Given the description of an element on the screen output the (x, y) to click on. 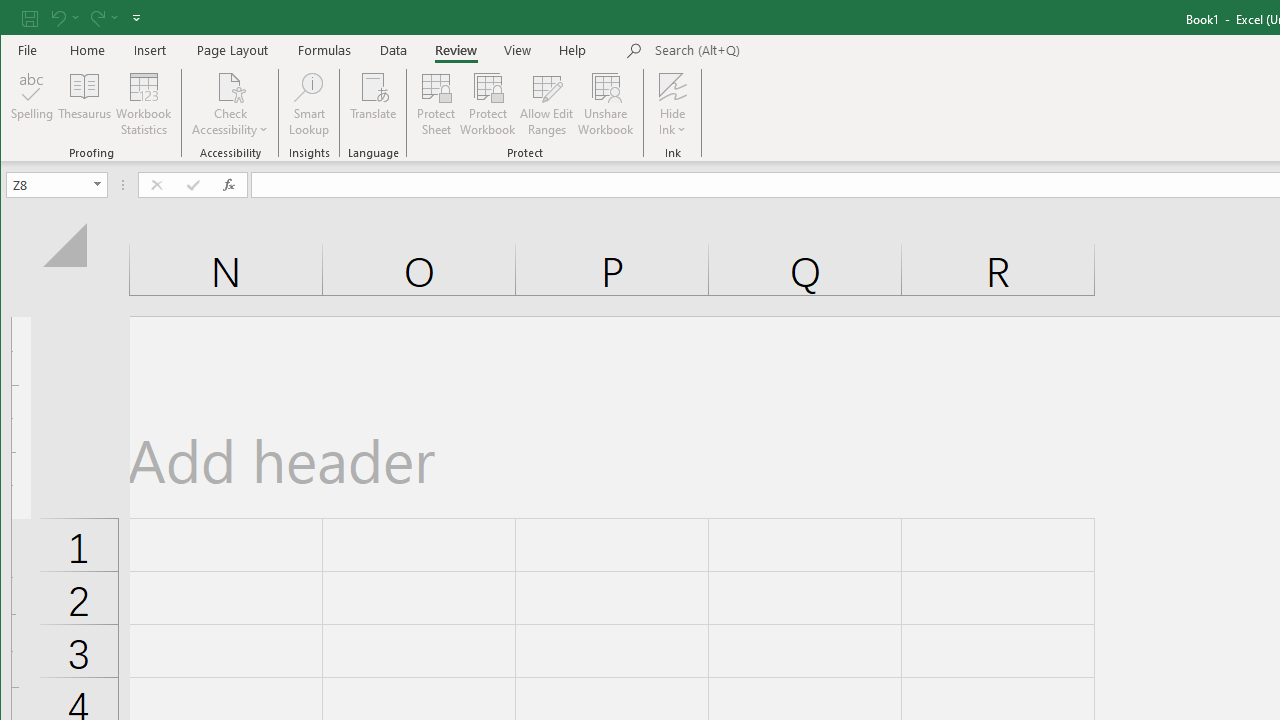
Unshare Workbook (606, 104)
Thesaurus... (84, 104)
Workbook Statistics (143, 104)
Allow Edit Ranges (547, 104)
Protect Sheet... (436, 104)
Spelling... (32, 104)
